Given the description of an element on the screen output the (x, y) to click on. 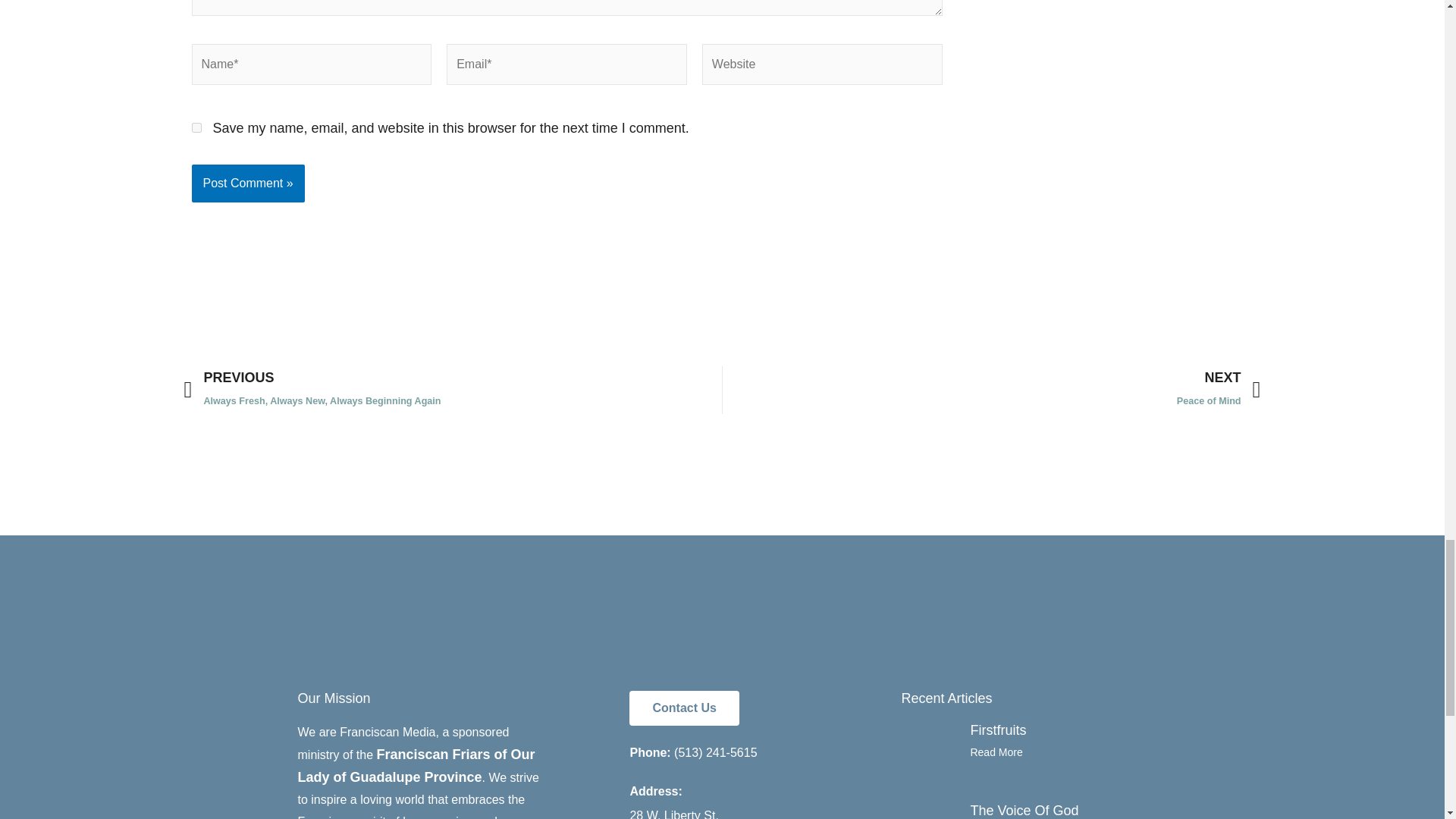
yes (195, 127)
